Given the description of an element on the screen output the (x, y) to click on. 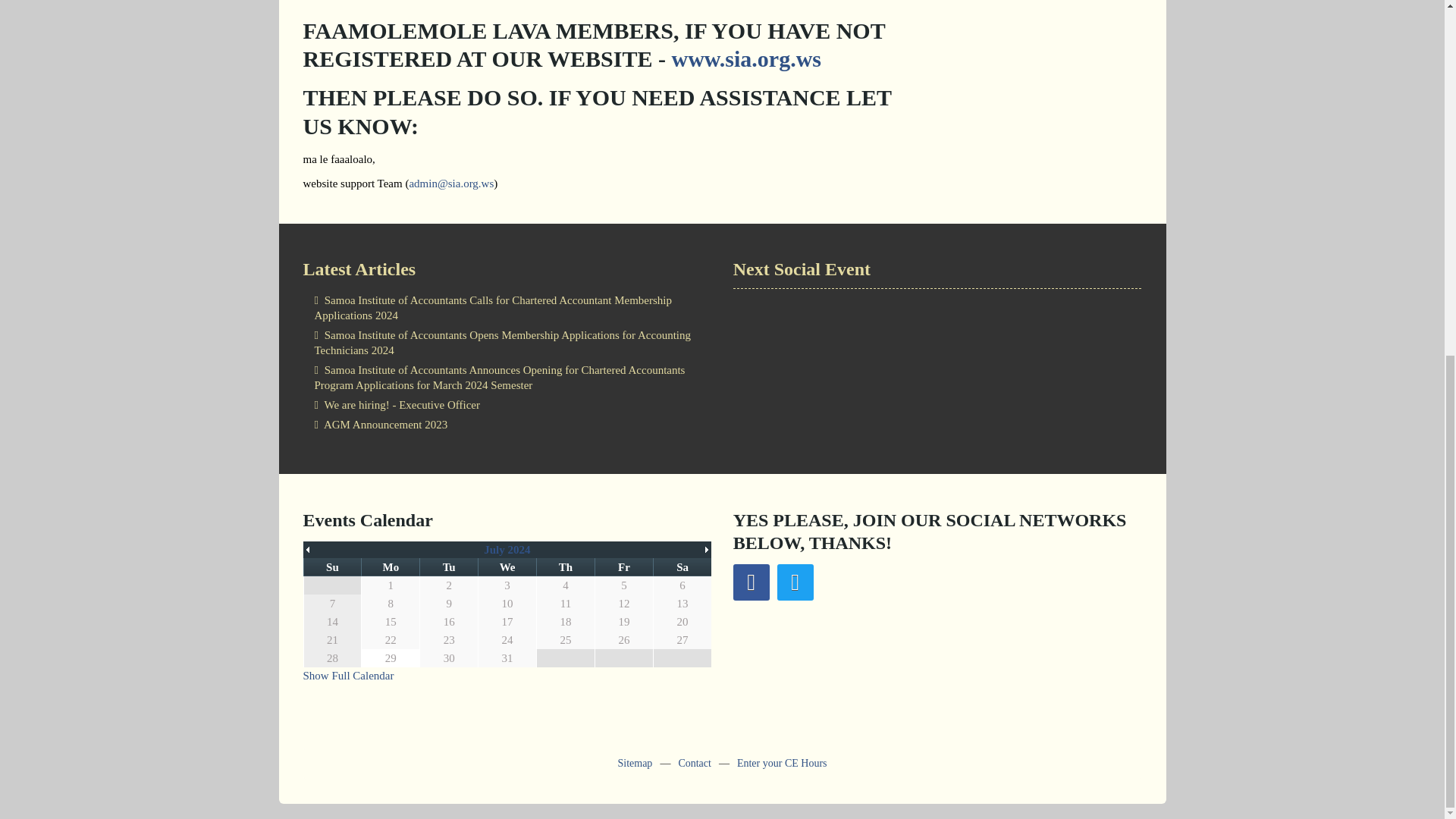
We are hiring! - Executive Officer (506, 404)
www.sia.org.ws (746, 58)
July 2024 (506, 549)
AGM Announcement 2023 (506, 424)
Show Full Calendar (348, 675)
